Given the description of an element on the screen output the (x, y) to click on. 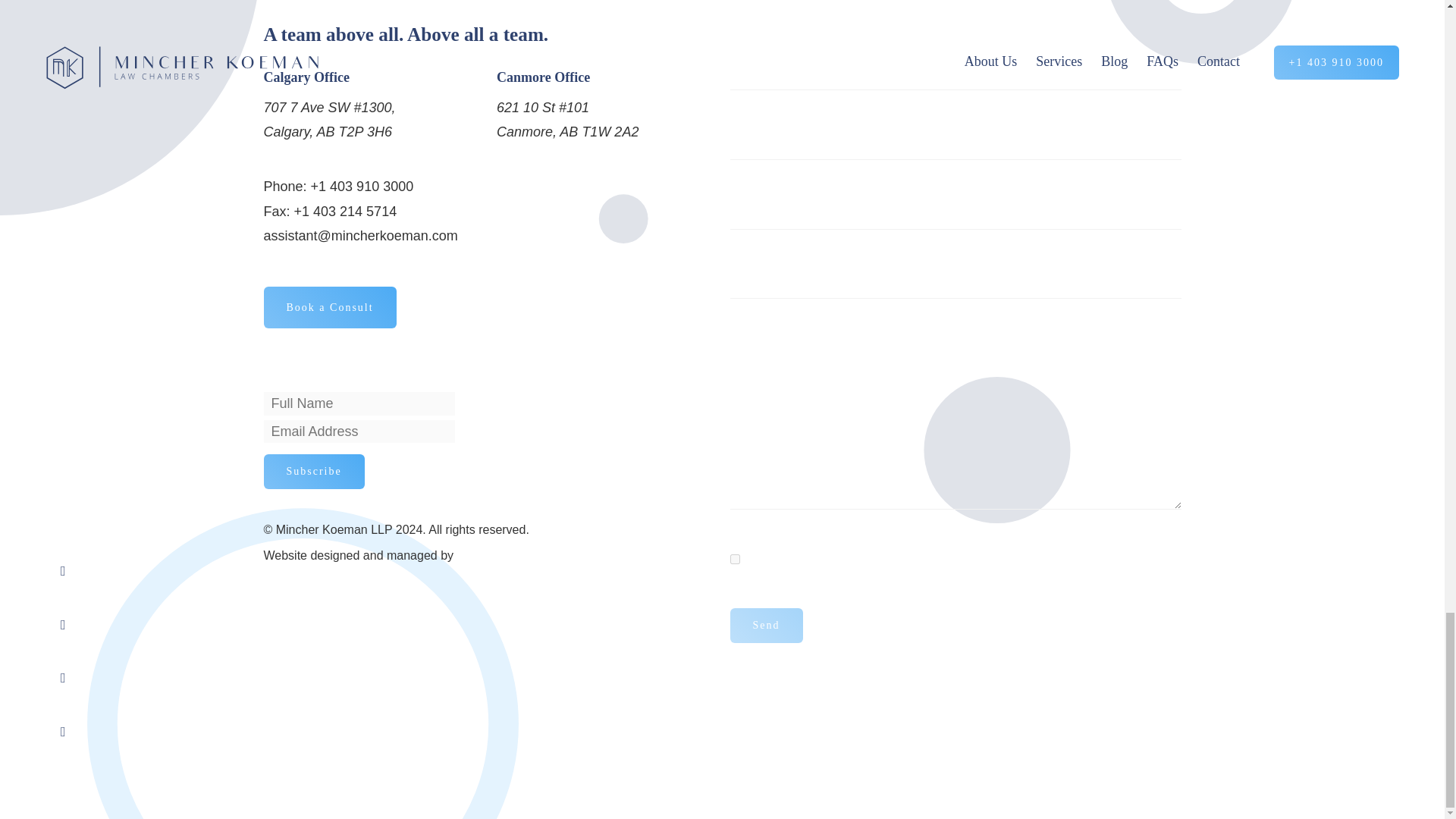
Privacy Policy (869, 559)
1 (734, 559)
Send (765, 625)
Book a Consult (329, 307)
Umbrella Legal Marketing (525, 554)
Subscribe (314, 471)
Subscribe (314, 471)
Send (765, 625)
Disclaimer (962, 559)
